Given the description of an element on the screen output the (x, y) to click on. 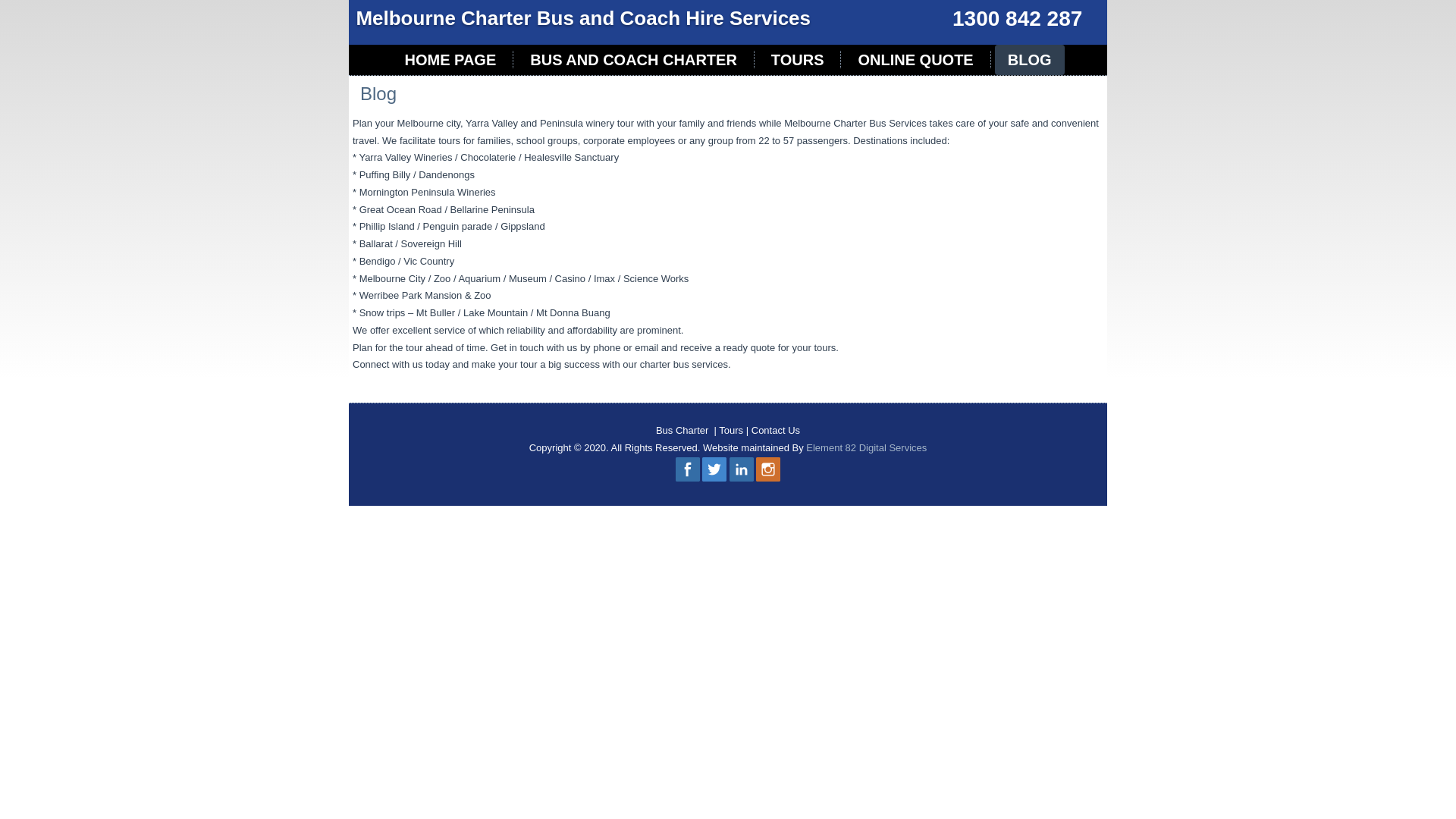
Contact Us Element type: text (775, 430)
BLOG Element type: text (1029, 59)
ONLINE QUOTE Element type: text (914, 59)
Tours Element type: text (730, 430)
Melbourne Charter Bus and Coach Hire Services Element type: text (582, 17)
HOME PAGE Element type: text (449, 59)
TOURS Element type: text (797, 59)
BUS AND COACH CHARTER Element type: text (633, 59)
Bus Charter Element type: text (681, 430)
Element 82 Digital Services Element type: text (866, 447)
